Given the description of an element on the screen output the (x, y) to click on. 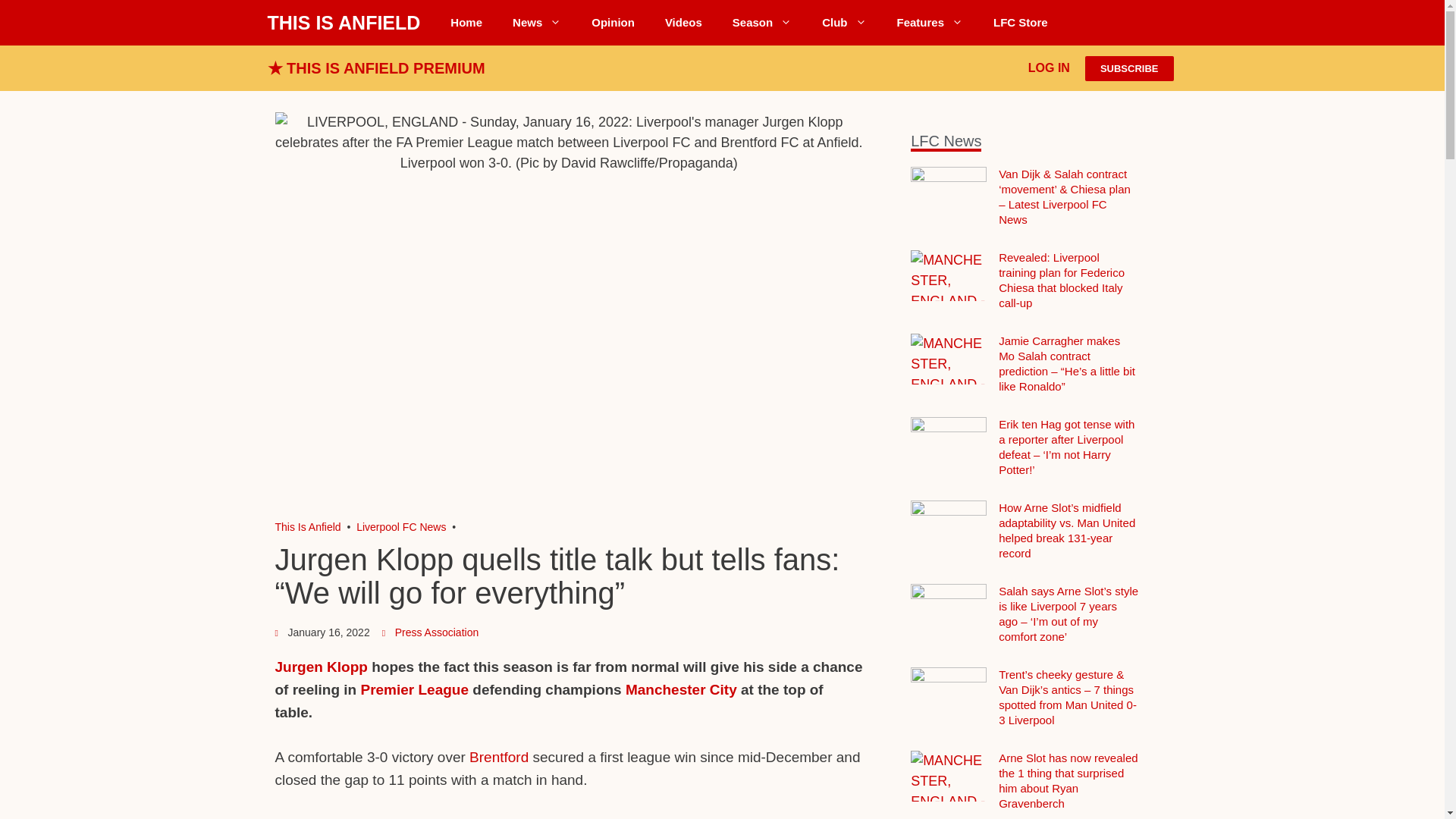
Liverpool FC Features (929, 22)
Brentford (498, 756)
Opinion (612, 22)
Liverpool FC (307, 526)
News (536, 22)
Home (466, 22)
Season (761, 22)
Liverpool FC Videos (683, 22)
Go to the Liverpool FC News category archives. (400, 526)
Liverpool FC Opinion (612, 22)
